Given the description of an element on the screen output the (x, y) to click on. 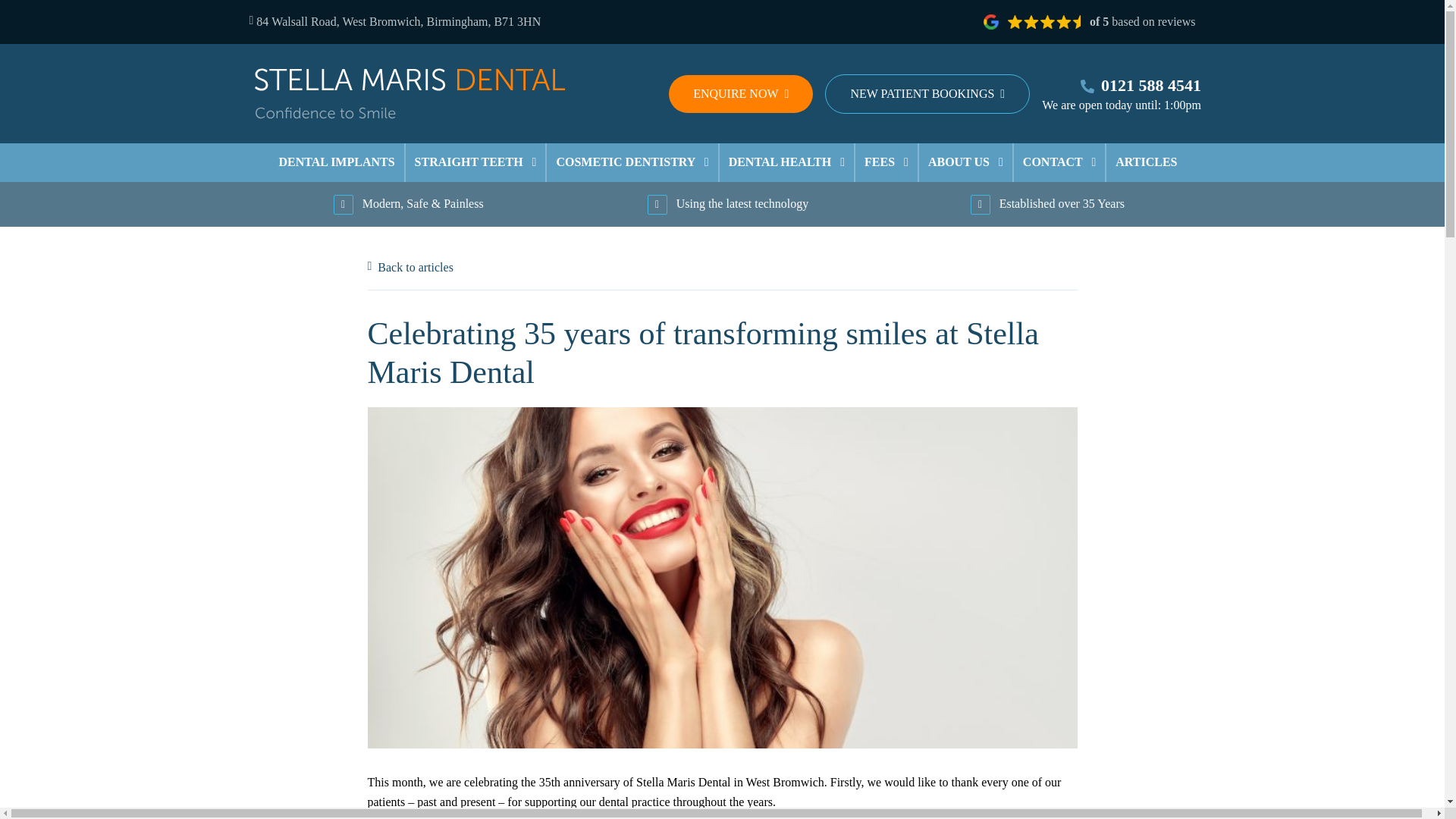
0121 588 4541 (1121, 85)
COSMETIC DENTISTRY (632, 161)
ENQUIRE NOW (740, 94)
STRAIGHT TEETH (476, 161)
ABOUT US (964, 161)
84 Walsall Road, West Bromwich, Birmingham, B71 3HN (394, 21)
FEES (886, 161)
DENTAL HEALTH (786, 161)
CONTACT (1059, 161)
DENTAL IMPLANTS (336, 161)
